Given the description of an element on the screen output the (x, y) to click on. 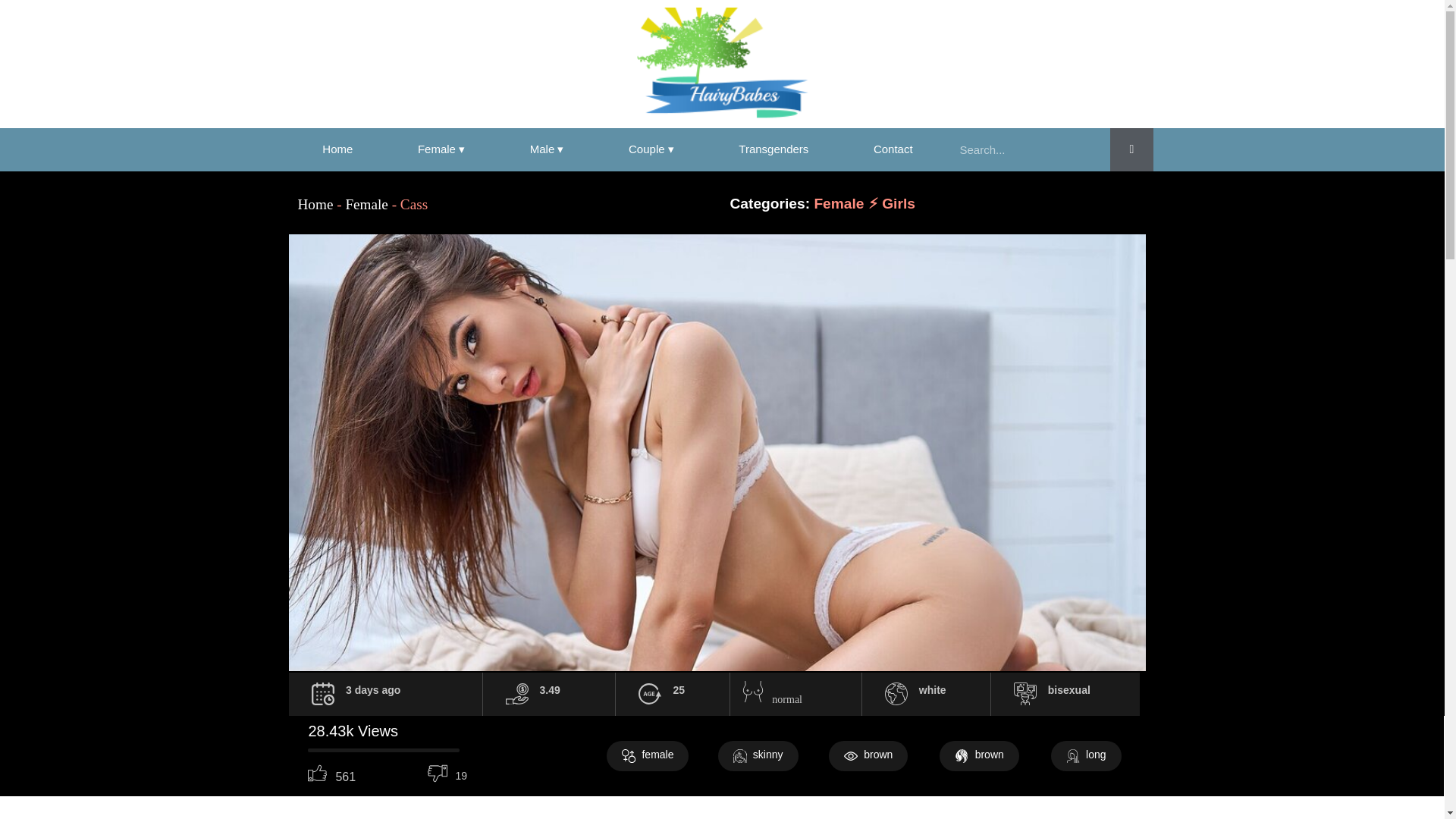
Home (315, 204)
female (647, 756)
skinny (757, 756)
Transgenders (773, 148)
brown (867, 756)
Contact (892, 148)
Home (337, 148)
Female (366, 204)
Contact (892, 148)
Transgenders (773, 148)
Home (337, 148)
